Given the description of an element on the screen output the (x, y) to click on. 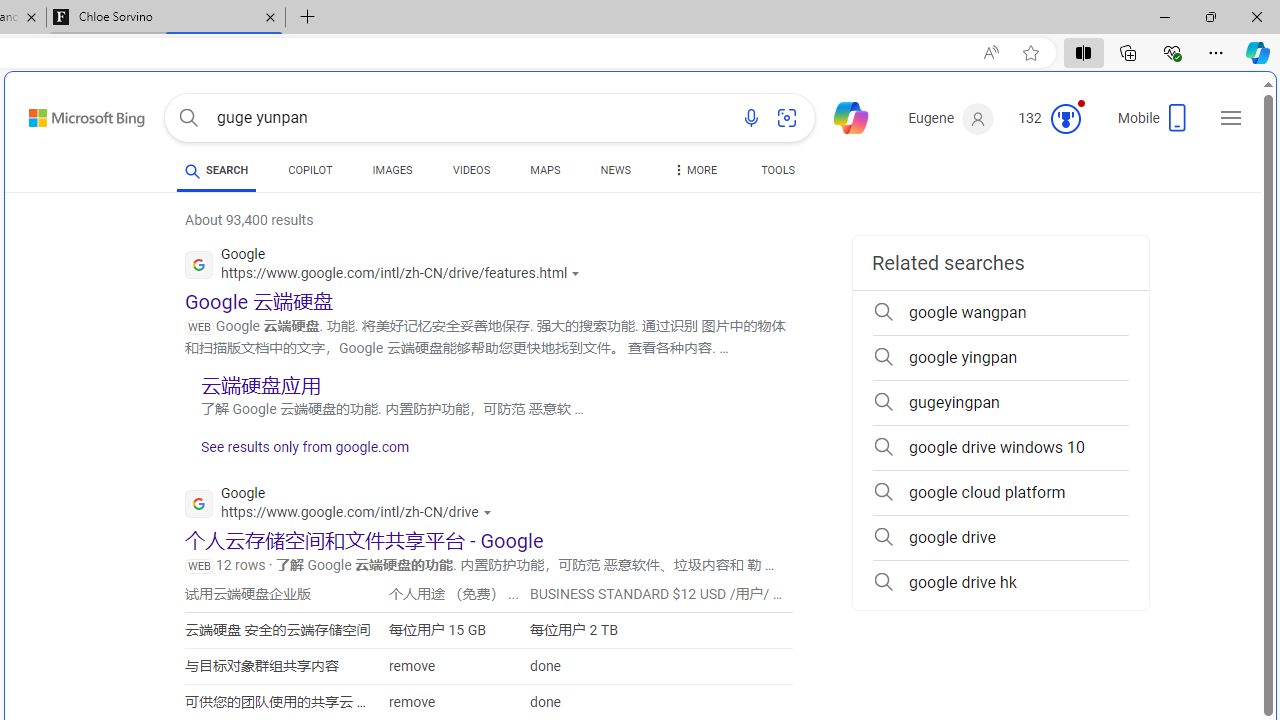
gugeyingpan (1000, 402)
Browser essentials (1171, 52)
